Given the description of an element on the screen output the (x, y) to click on. 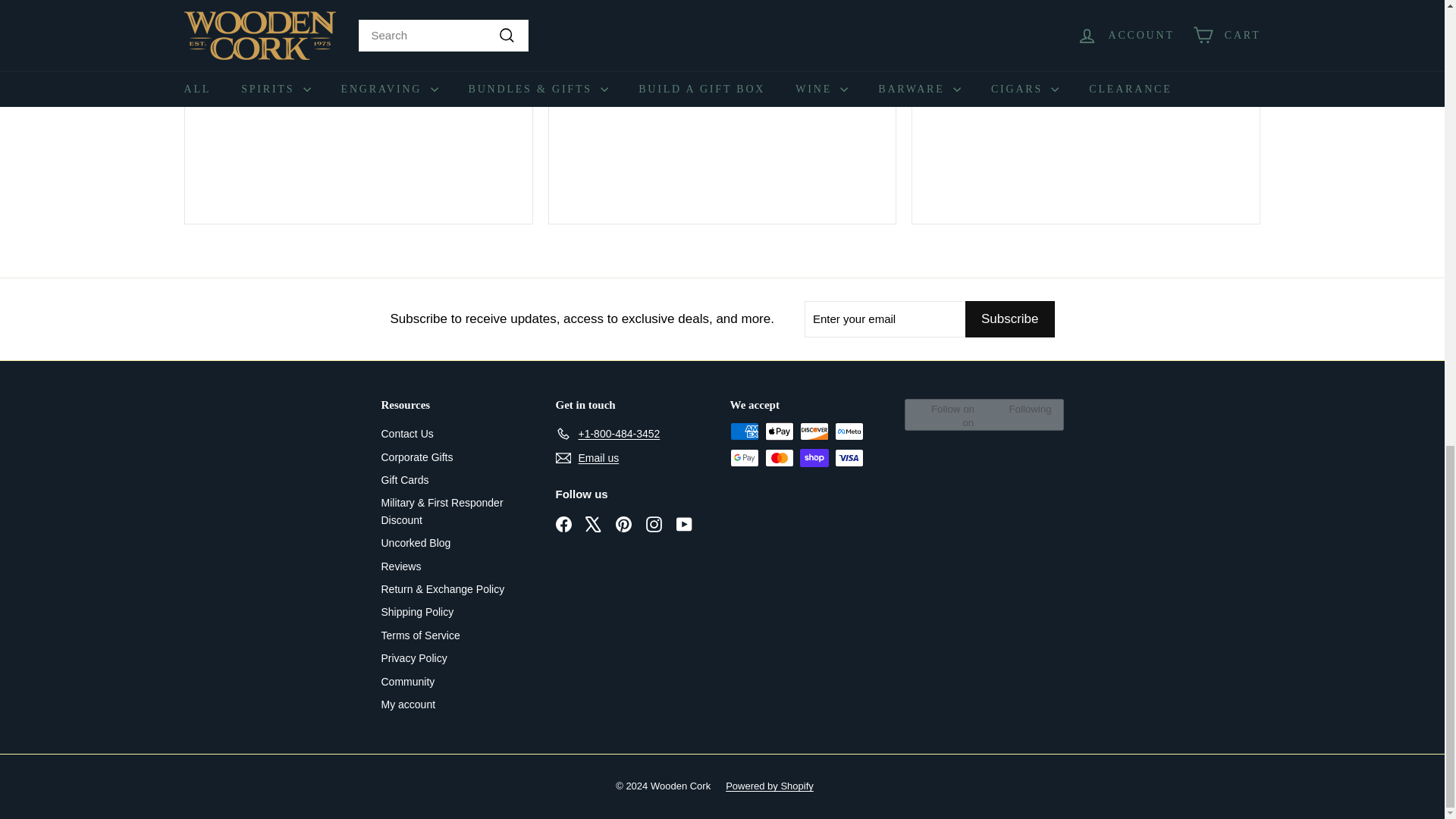
Wooden Cork on Pinterest (623, 523)
Wooden Cork on Facebook (562, 523)
Wooden Cork on Instagram (654, 523)
Wooden Cork on X (593, 523)
Wooden Cork on YouTube (685, 523)
